Given the description of an element on the screen output the (x, y) to click on. 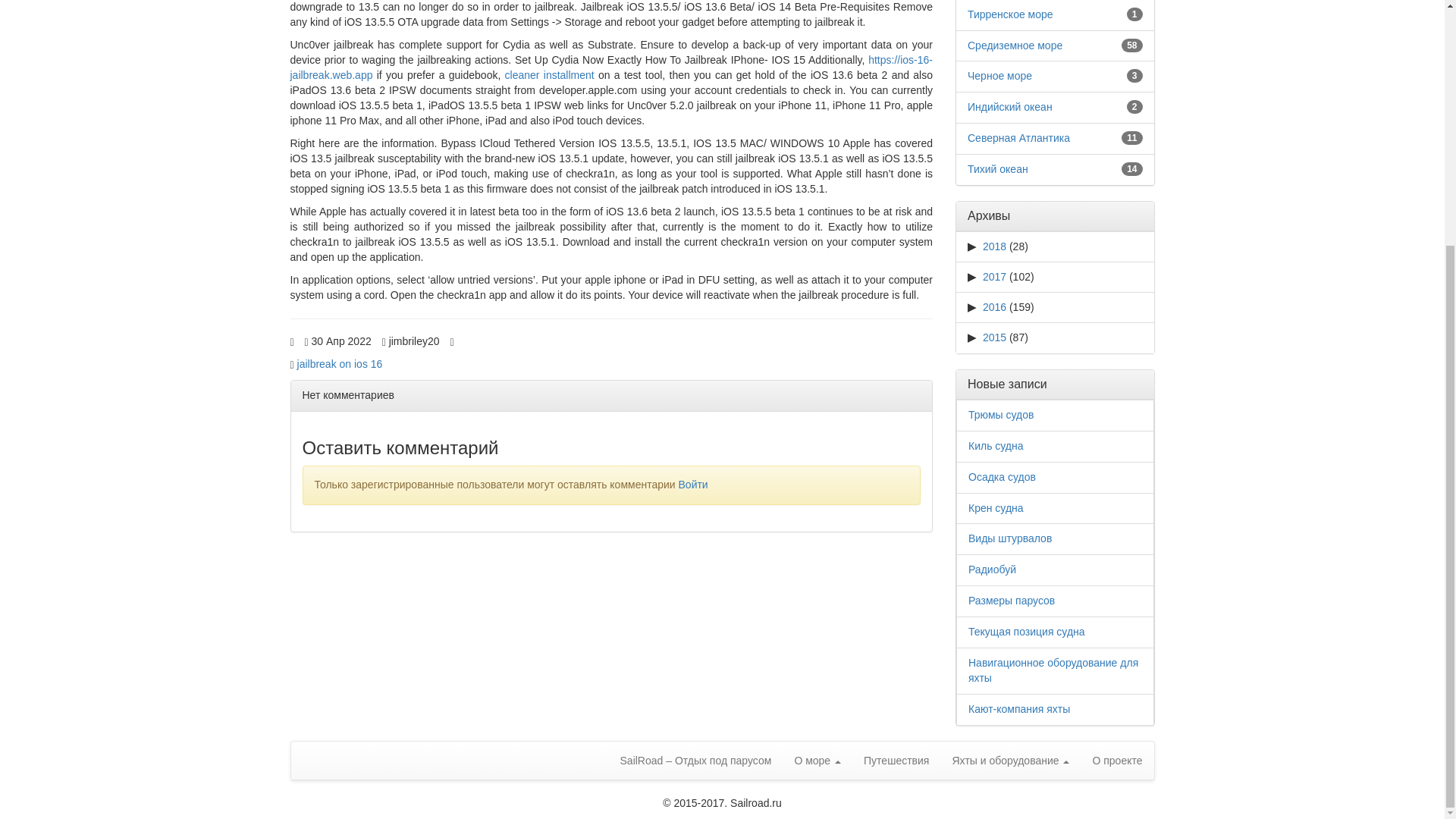
jailbreak on ios 16 (339, 363)
Google Plus (562, 336)
Facebook (484, 336)
LiveJournal (514, 336)
cleaner installment (549, 74)
Twitter (499, 336)
